Given the description of an element on the screen output the (x, y) to click on. 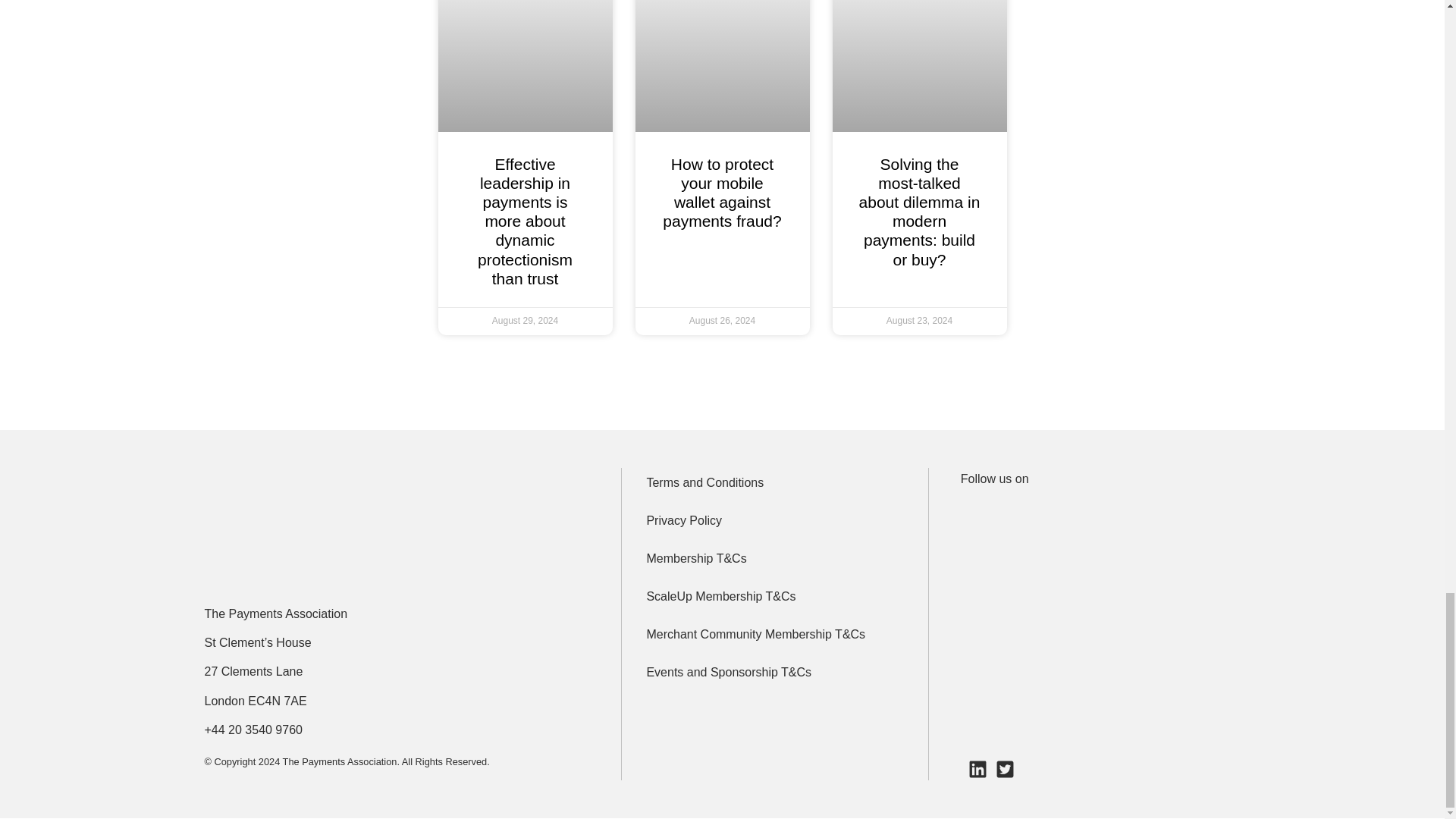
Privacy Policy (774, 521)
Terms and Conditions (774, 482)
How to protect your mobile wallet against payments fraud? (721, 192)
